Given the description of an element on the screen output the (x, y) to click on. 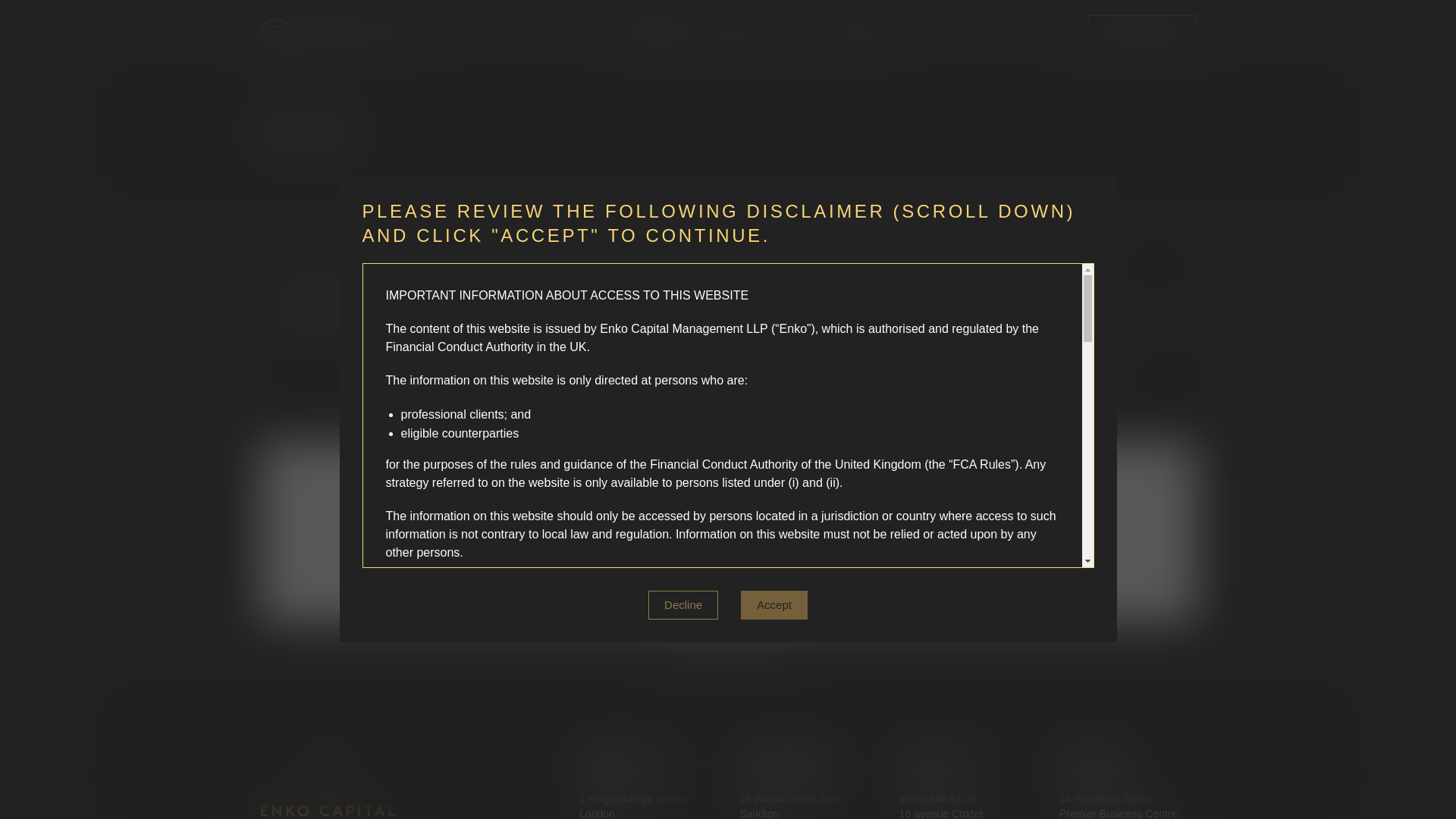
BACK TO ALL NEWS (1086, 264)
Art by Aboudia Abdoulaye Diarrassouba (1085, 327)
Next (913, 538)
Strategies (657, 33)
Get in touch (1141, 34)
Open entire artwork (1057, 380)
Decline (682, 604)
Raise a Grievance (727, 654)
Contact (856, 33)
News (791, 33)
Accept (774, 604)
Team (729, 33)
